Given the description of an element on the screen output the (x, y) to click on. 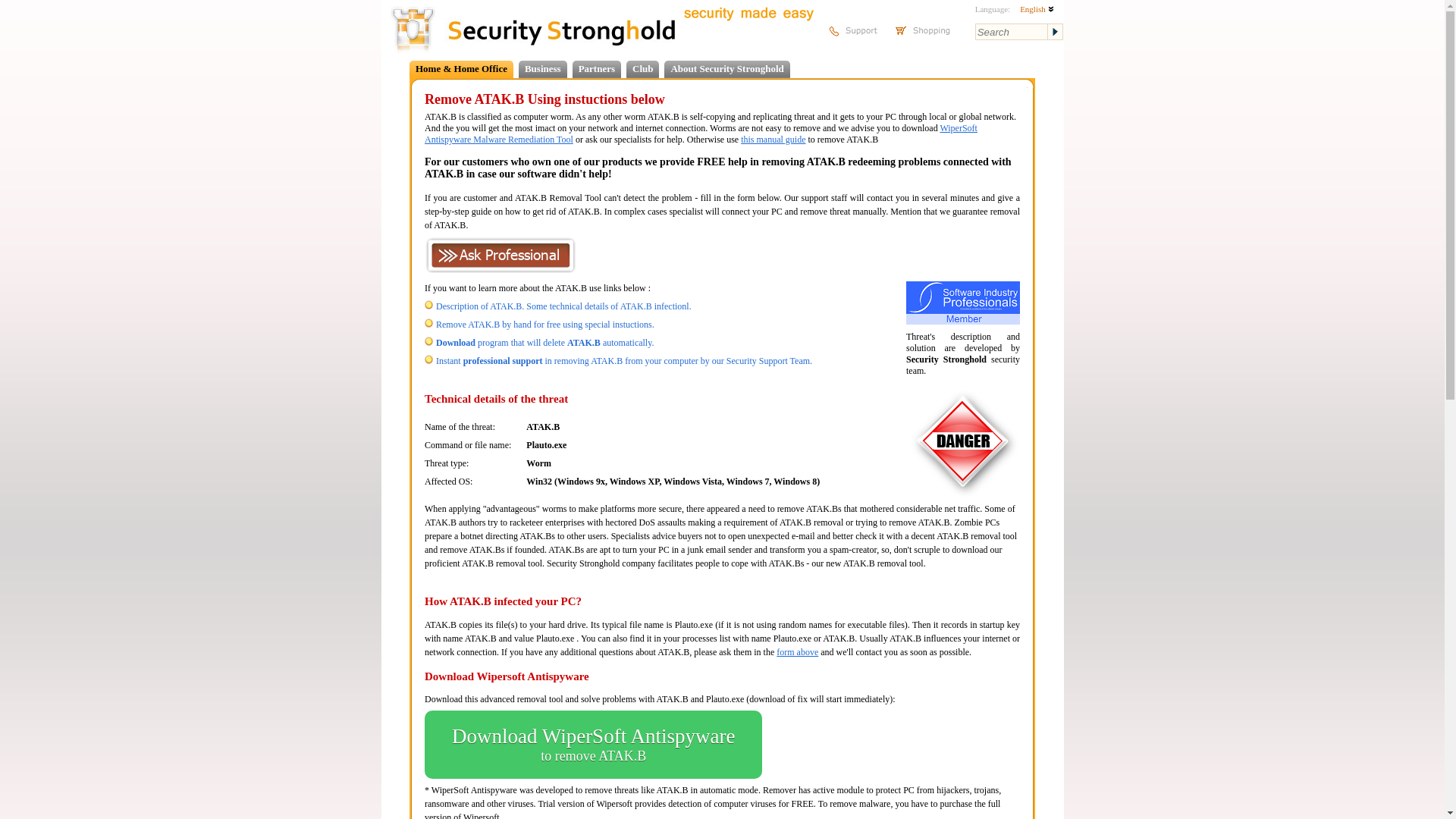
Club (641, 68)
Remove ATAK.B by hand for free using special instuctions. (544, 324)
WiperSoft Antispyware Malware Remediation Tool (700, 133)
this manual guide (773, 139)
English (1037, 9)
About Security Stronghold (726, 68)
form above (797, 652)
Partners (593, 744)
Download program that will delete ATAK.B automatically. (596, 68)
Business (544, 342)
Threat indicator: HIGH (542, 68)
